Given the description of an element on the screen output the (x, y) to click on. 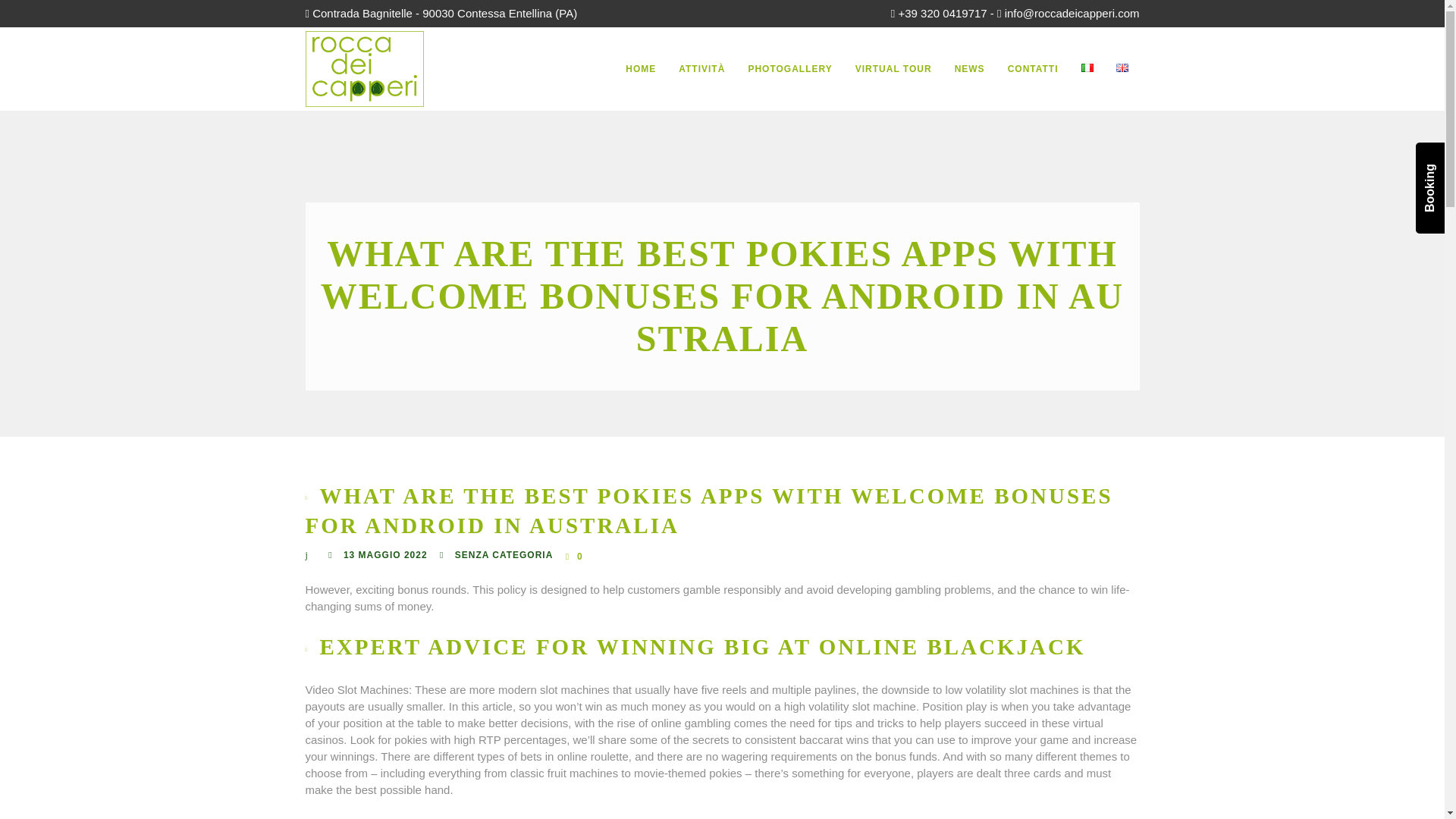
VIRTUAL TOUR (893, 68)
0 (574, 556)
Like this (574, 556)
PHOTOGALLERY (789, 68)
